Given the description of an element on the screen output the (x, y) to click on. 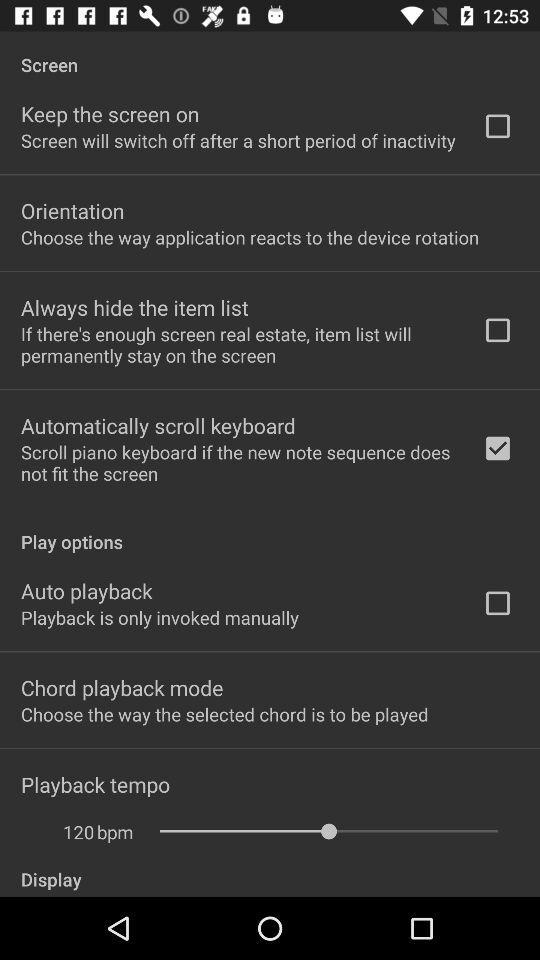
launch the chord playback mode app (122, 687)
